Given the description of an element on the screen output the (x, y) to click on. 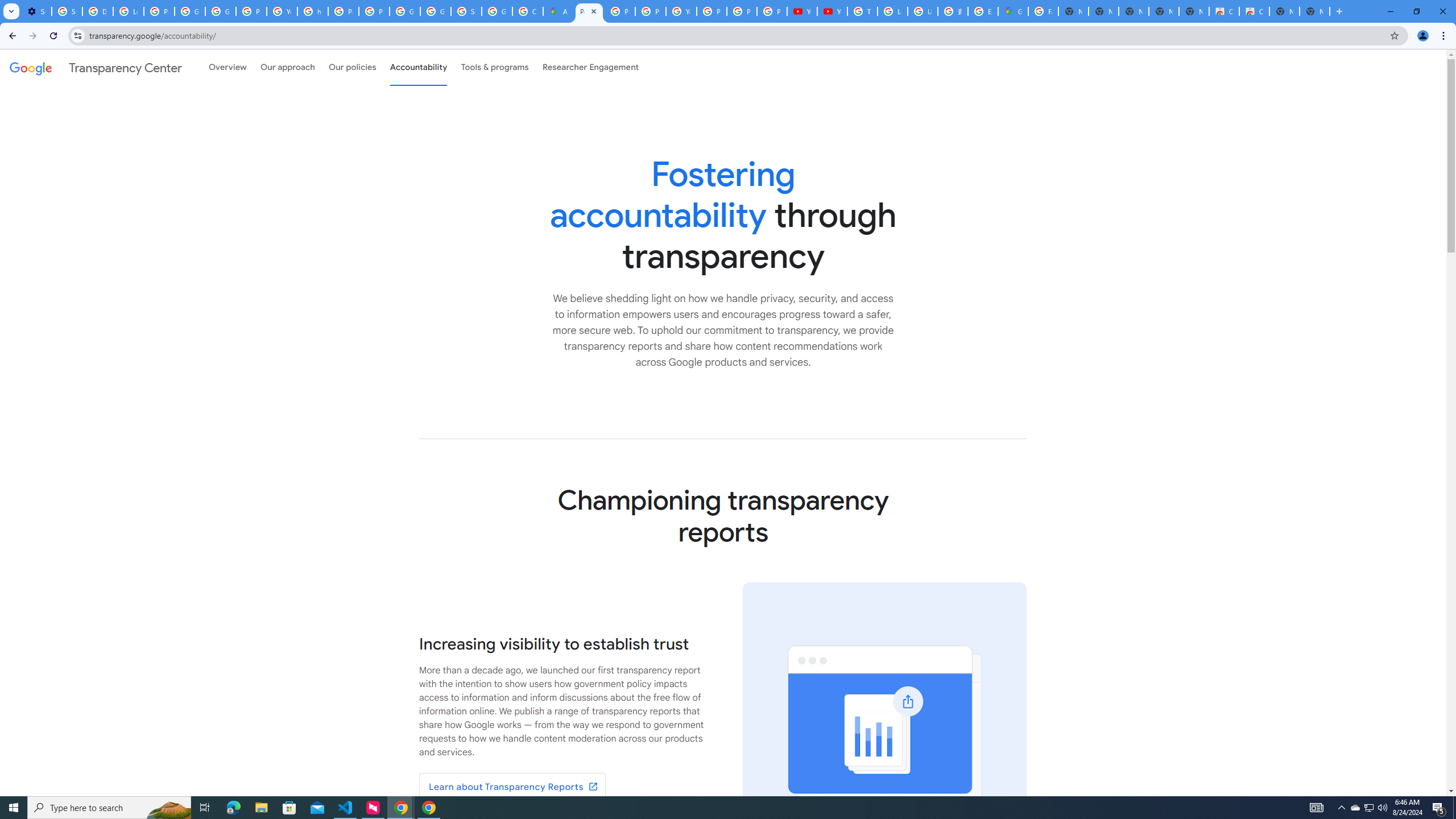
Privacy Help Center - Policies Help (619, 11)
Tools & programs (494, 67)
Researcher Engagement (590, 67)
